Given the description of an element on the screen output the (x, y) to click on. 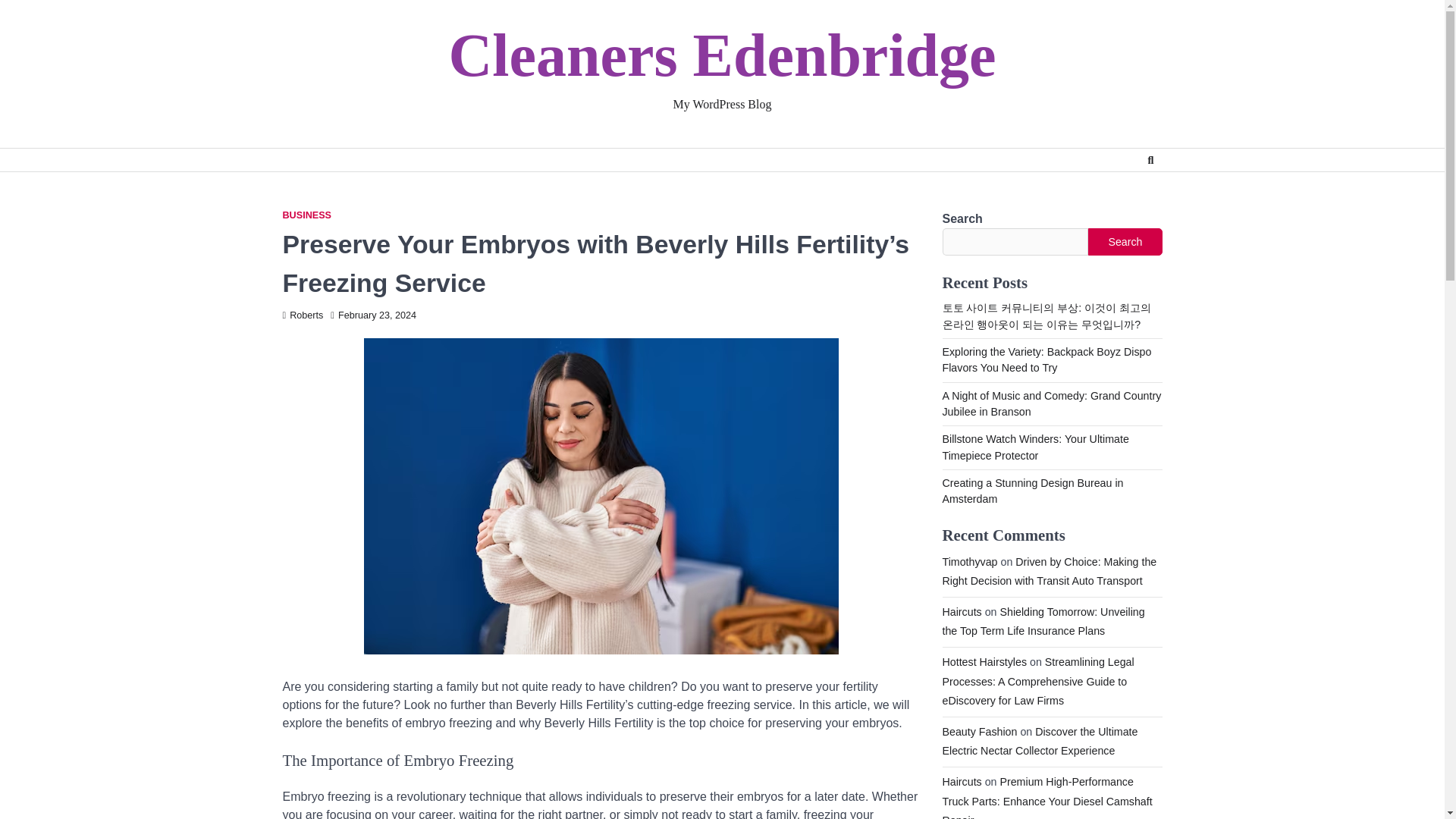
Roberts (302, 315)
Search (1149, 159)
Creating a Stunning Design Bureau in Amsterdam (1032, 490)
Billstone Watch Winders: Your Ultimate Timepiece Protector (1035, 447)
Search (1124, 241)
Haircuts (961, 612)
Cleaners Edenbridge (721, 54)
BUSINESS (306, 215)
Beauty Fashion (979, 731)
Search (1122, 196)
Haircuts (961, 781)
